Given the description of an element on the screen output the (x, y) to click on. 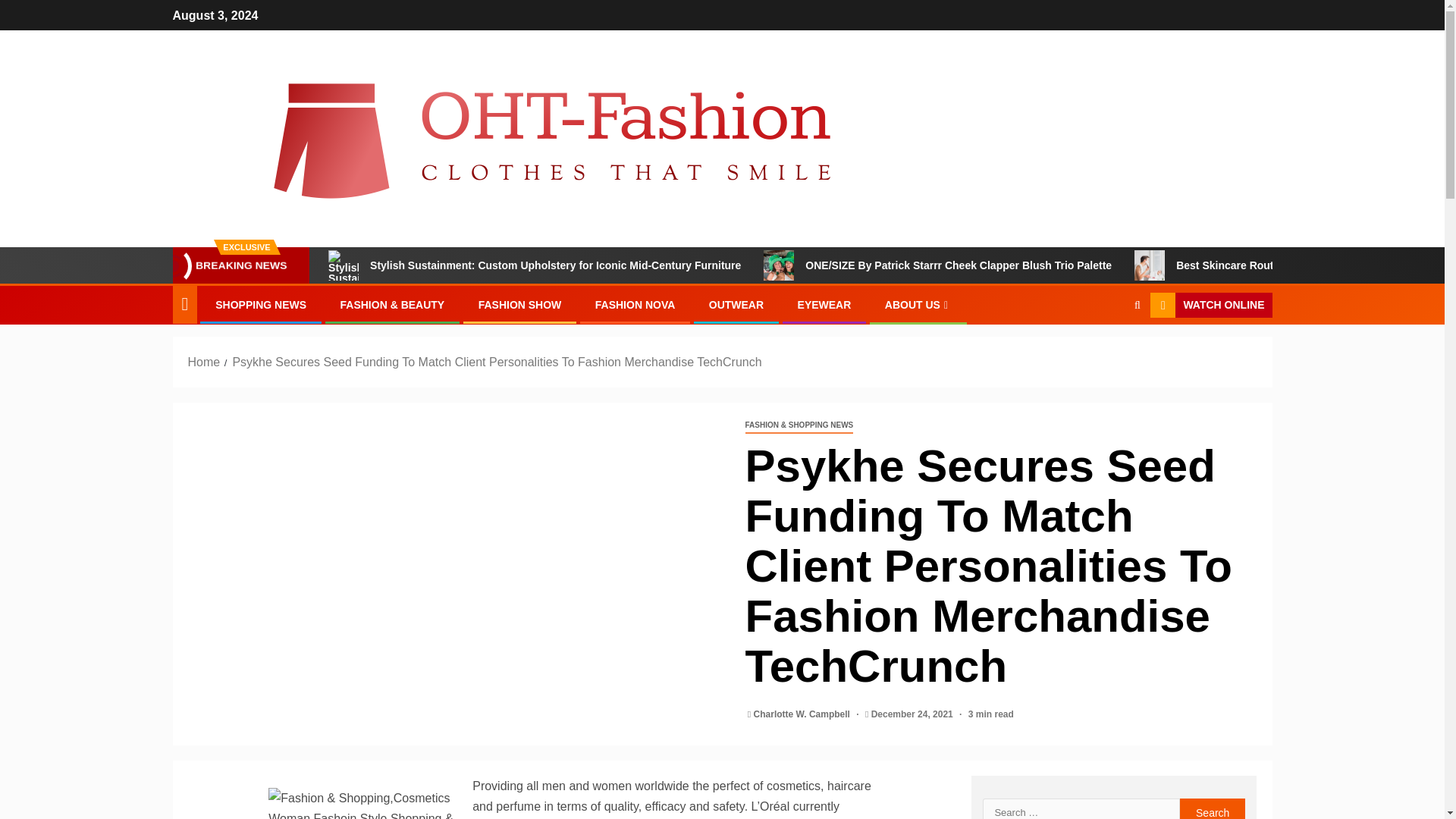
Best Skincare Routine for Men (1149, 265)
Home (204, 361)
FASHION NOVA (635, 304)
FASHION SHOW (520, 304)
Search (1107, 351)
Best Skincare Routine for Men (1231, 265)
Search (1212, 808)
ABOUT US (918, 304)
SHOPPING NEWS (260, 304)
EYEWEAR (824, 304)
Charlotte W. Campbell (803, 714)
WATCH ONLINE (1210, 305)
Search (1212, 808)
